Given the description of an element on the screen output the (x, y) to click on. 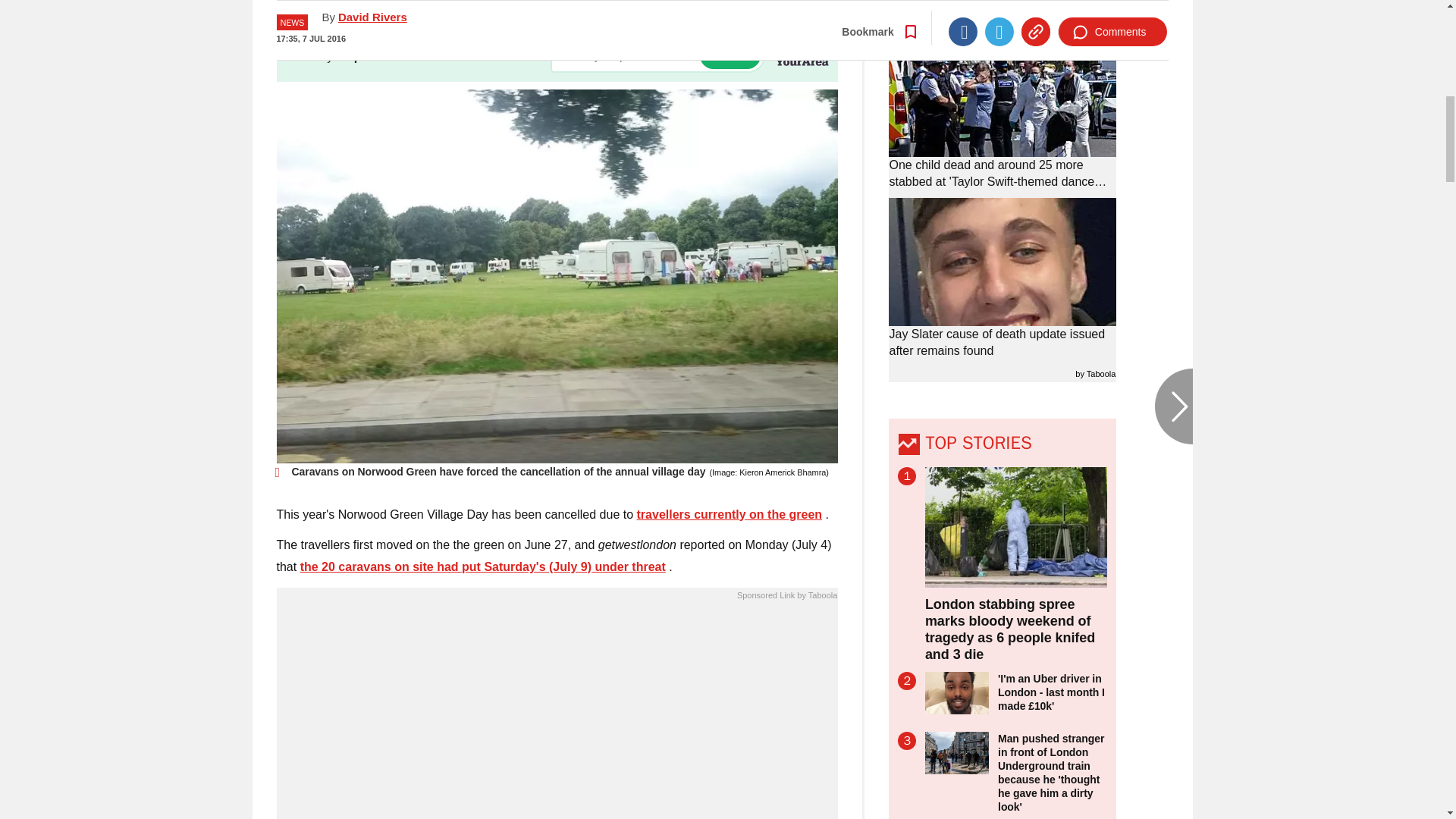
Do You Speak English? Work a USA Job From Home in China (557, 714)
Go (730, 55)
